Given the description of an element on the screen output the (x, y) to click on. 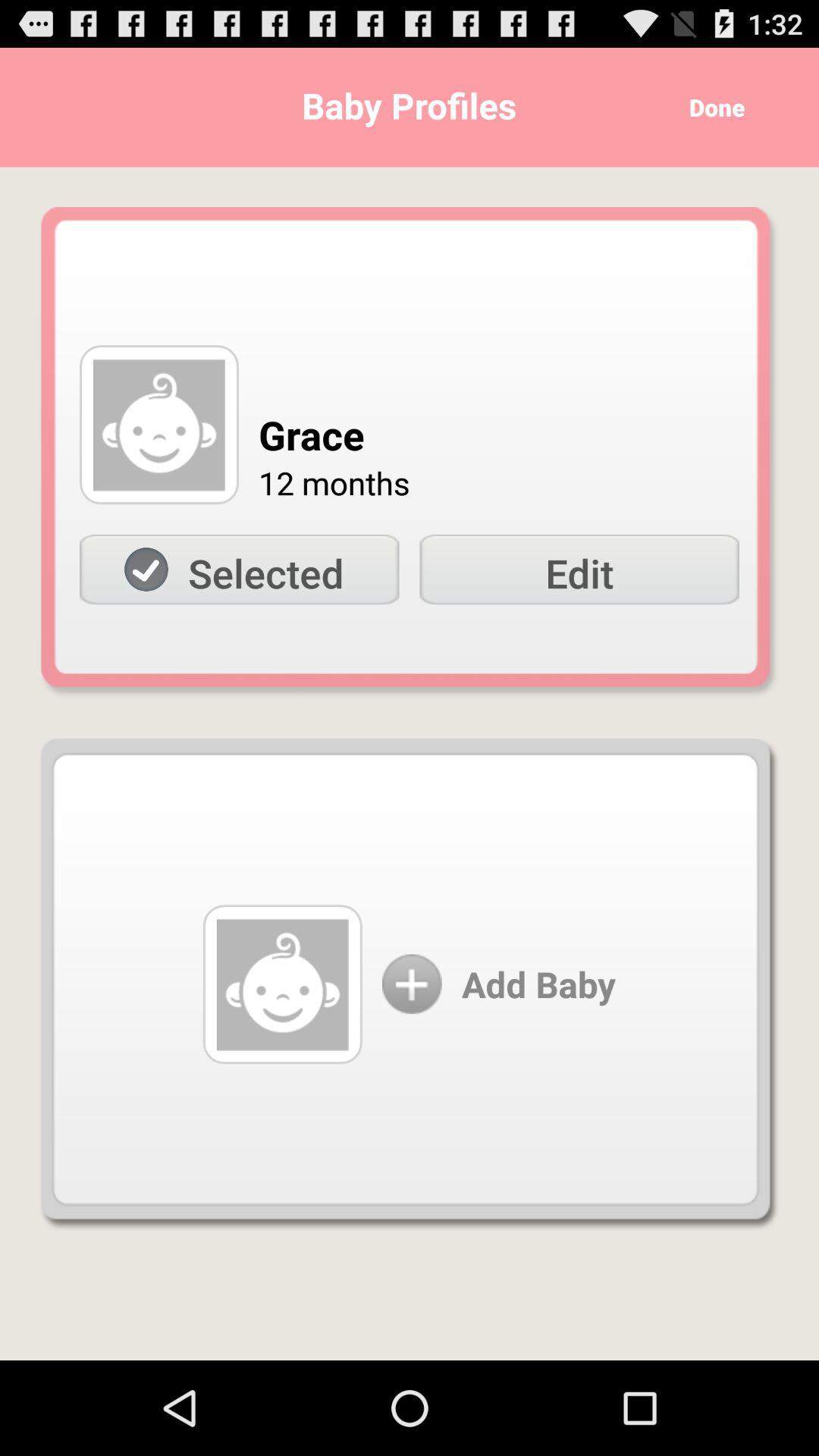
open the icon to the right of the selected item (579, 569)
